Given the description of an element on the screen output the (x, y) to click on. 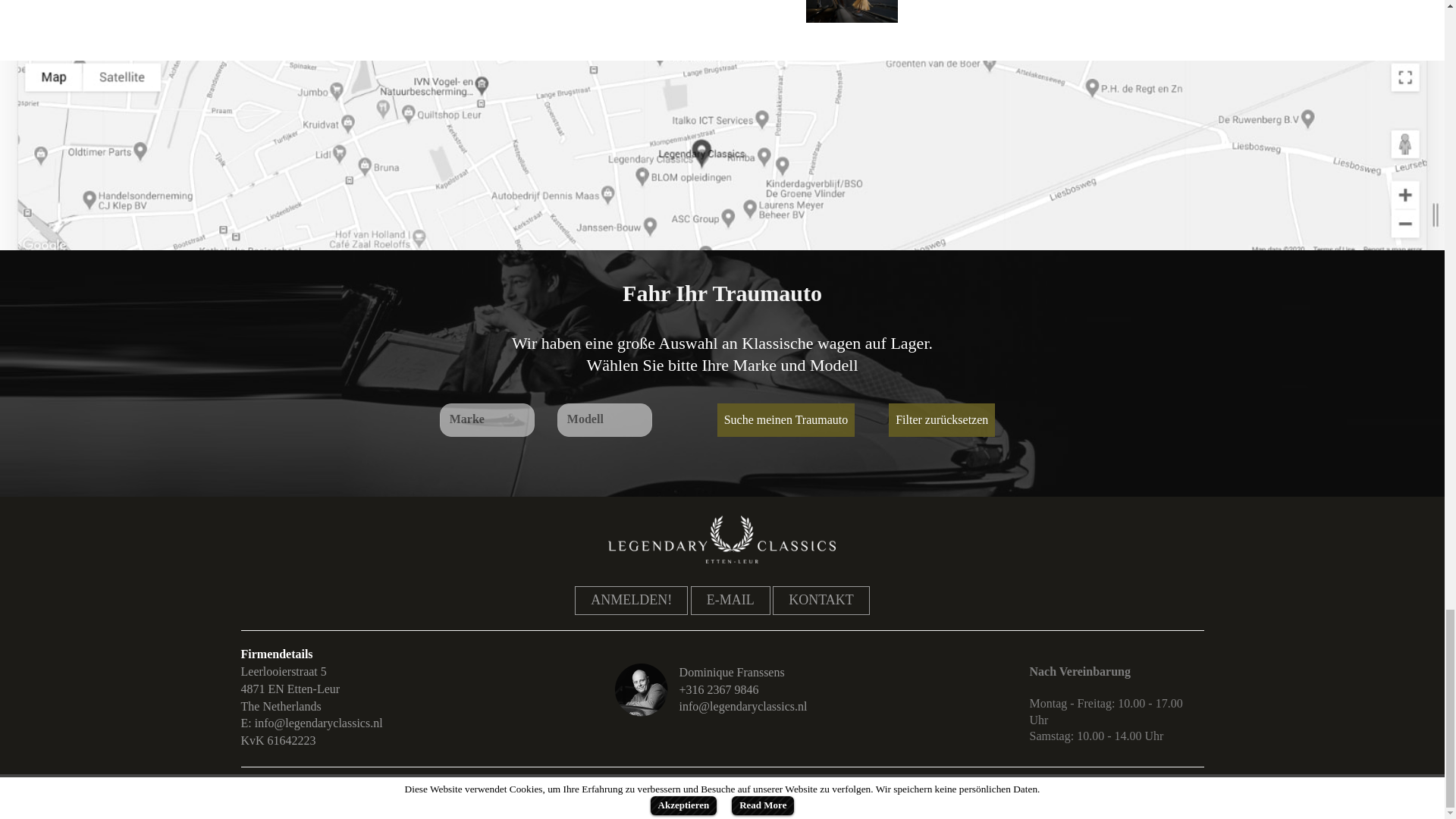
KONTAKT (821, 600)
E-MAIL (730, 600)
ANMELDEN! (631, 600)
